Given the description of an element on the screen output the (x, y) to click on. 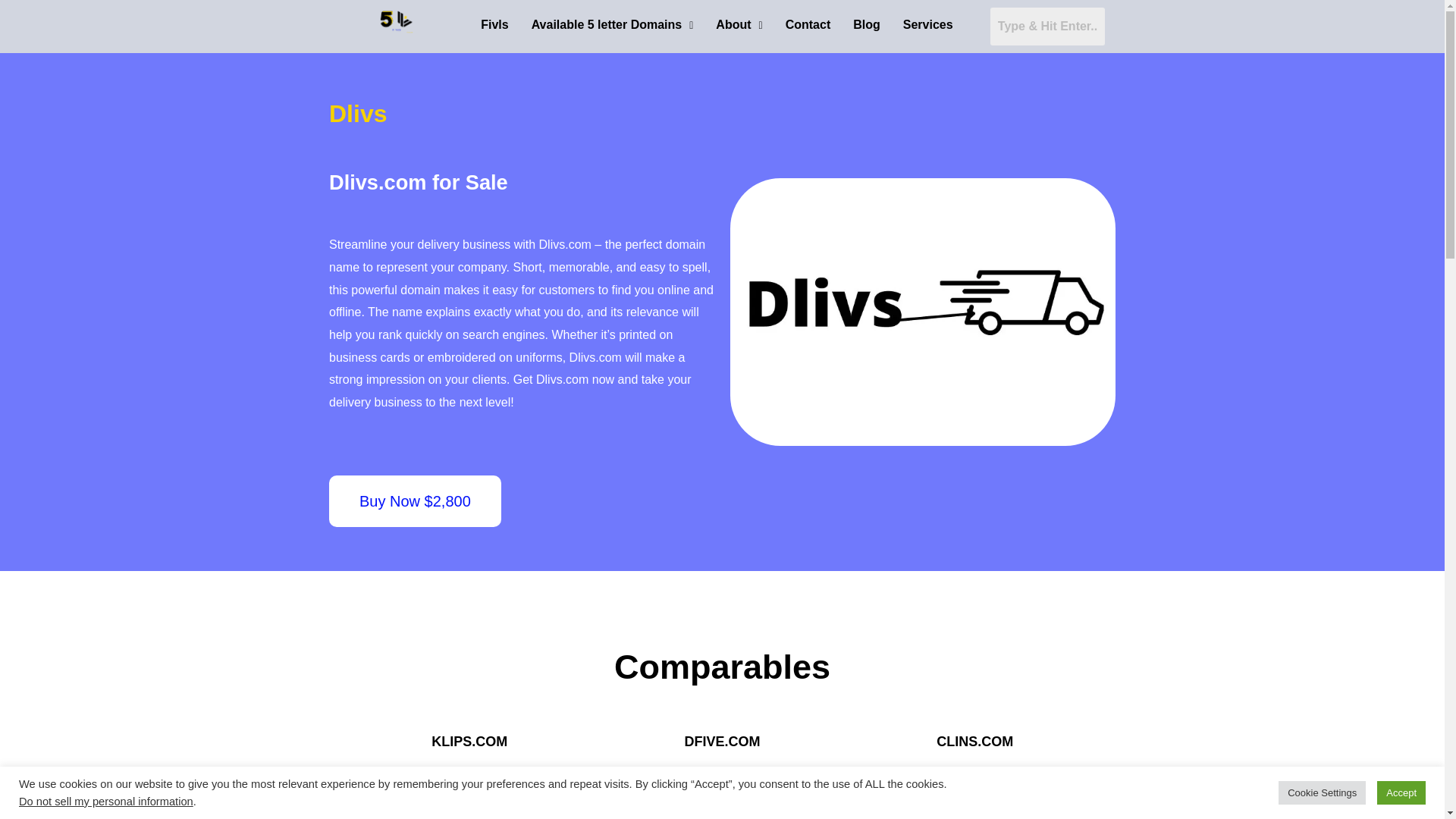
Available 5 letter Domains (611, 24)
Fivls (493, 24)
Search (1047, 26)
